Given the description of an element on the screen output the (x, y) to click on. 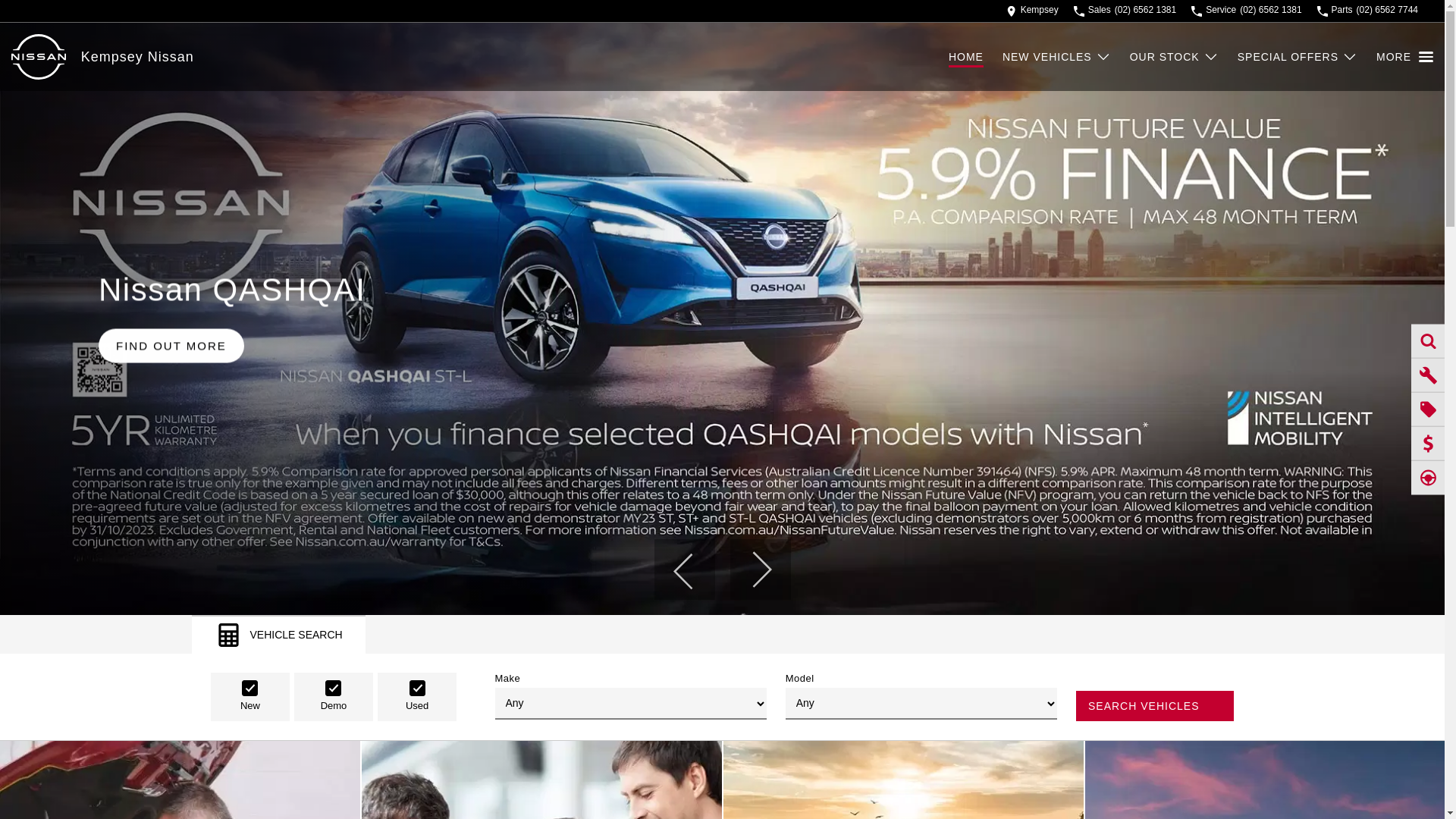
SEARCH VEHICLES Element type: text (1154, 705)
Next Element type: text (759, 569)
Sales
(02) 6562 1381 Element type: text (1124, 10)
Kempsey Element type: text (1032, 10)
SPECIAL OFFERS Element type: text (1297, 56)
HOME Element type: text (975, 56)
Parts
(02) 6562 7744 Element type: text (1367, 10)
MORE Element type: text (1404, 56)
Nissan Navara
Tough, Rugged, Advanced
FIND OUT MORE Element type: text (722, 318)
Previous Element type: text (683, 569)
NEW VEHICLES Element type: text (1056, 56)
Kempsey Nissan Element type: text (137, 56)
Service
(02) 6562 1381 Element type: text (1246, 10)
OUR STOCK Element type: text (1173, 56)
VEHICLE SEARCH Element type: text (277, 634)
